Given the description of an element on the screen output the (x, y) to click on. 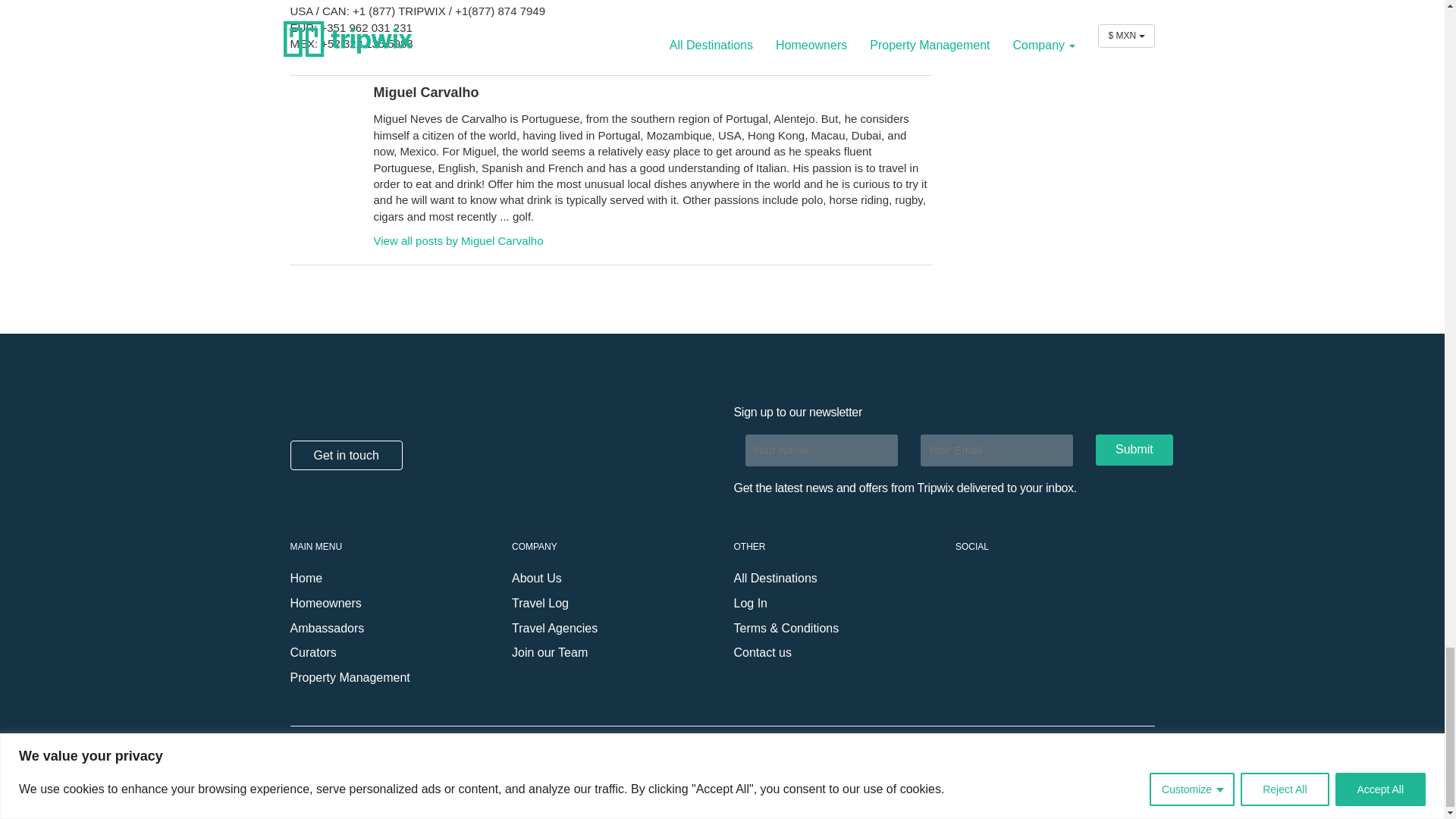
Submit (1134, 450)
